Given the description of an element on the screen output the (x, y) to click on. 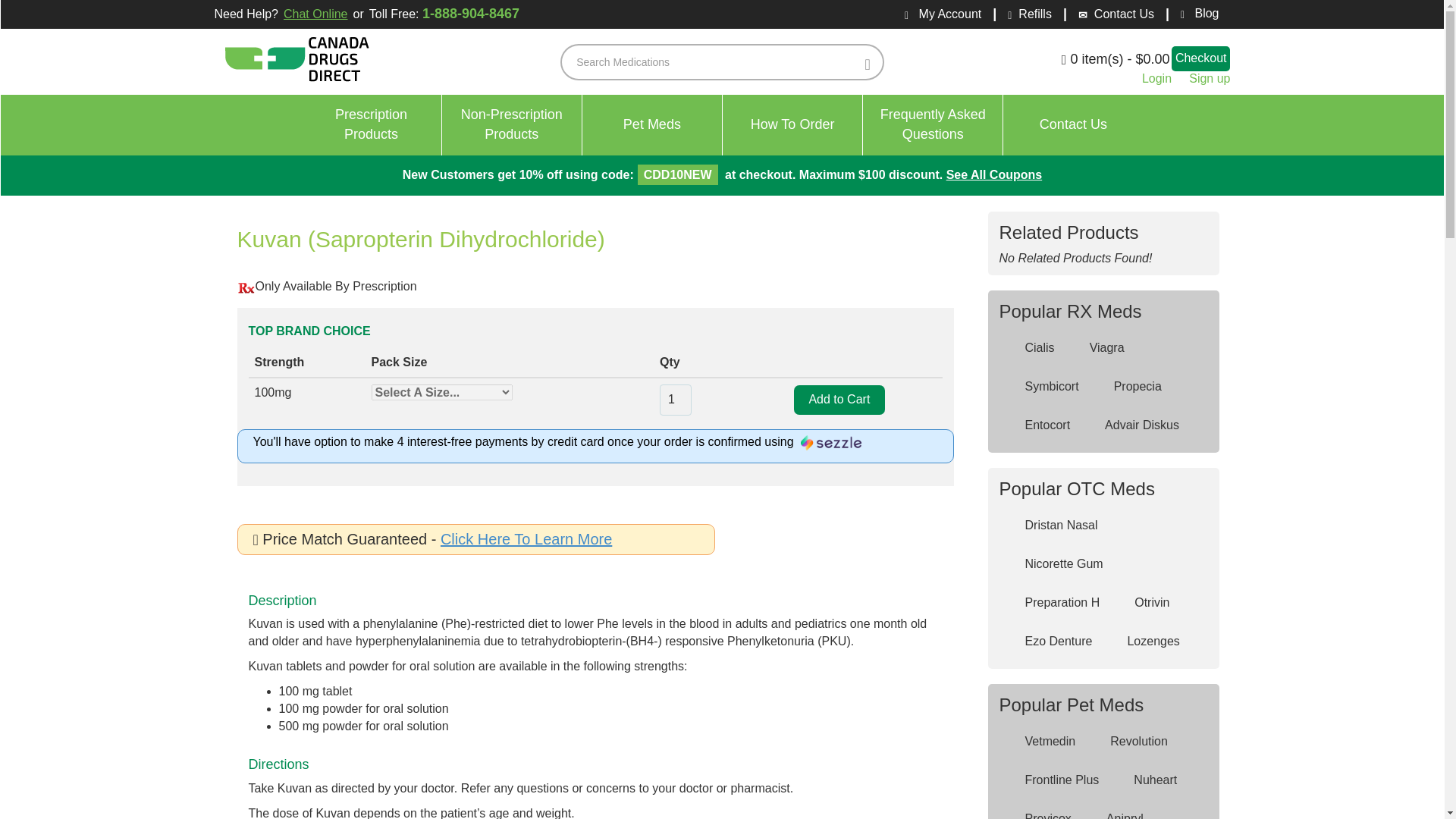
Login (1156, 78)
Nicorette Gum (1053, 563)
Toll Free: 1-888-904-8467 (933, 125)
Viagra (446, 14)
How To Order (1095, 348)
Pet Meds (792, 125)
Checkout (652, 125)
Contact Us (512, 125)
